Given the description of an element on the screen output the (x, y) to click on. 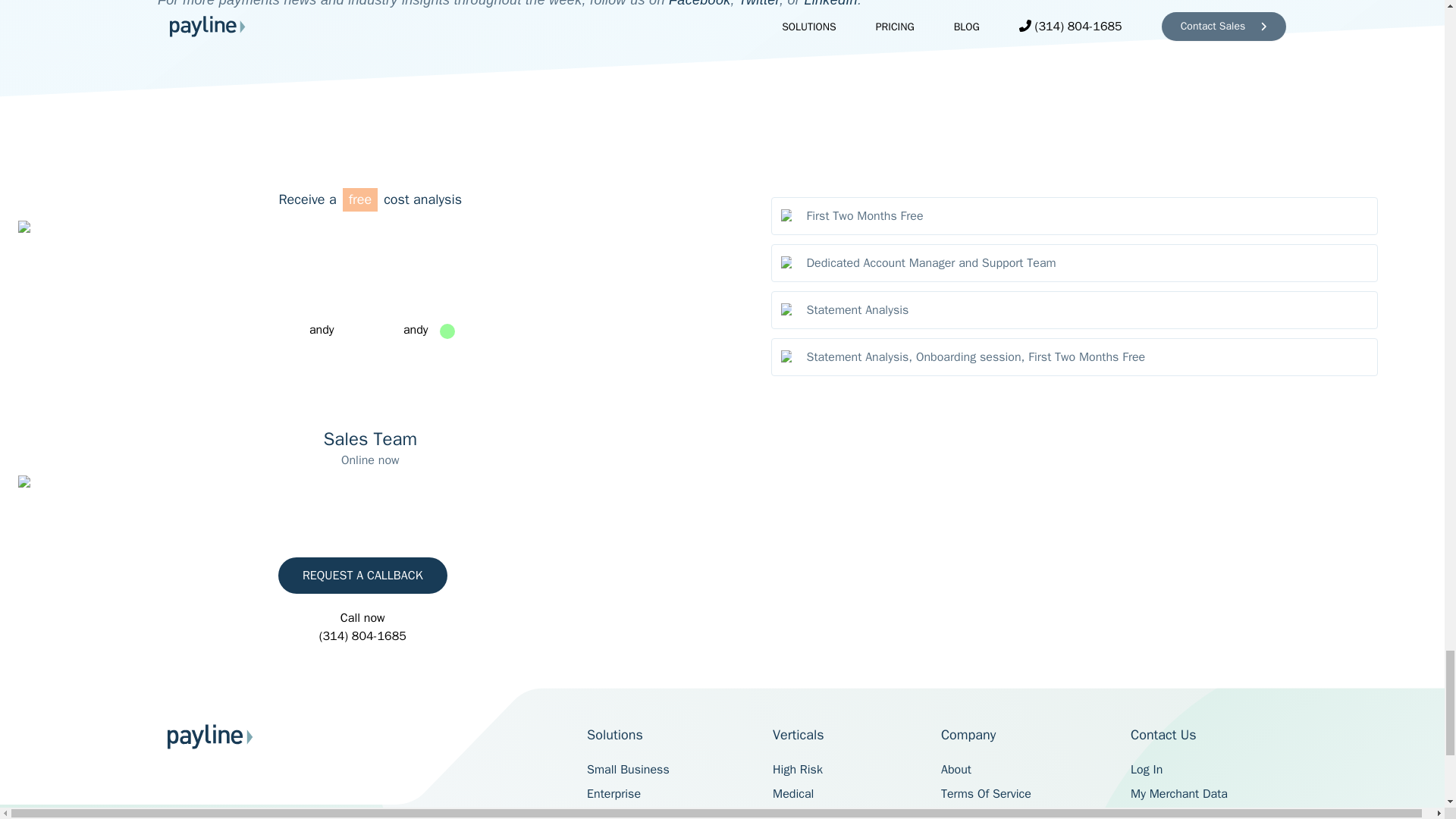
Twitter (758, 3)
LinkedIn (830, 3)
REQUEST A CALLBACK (362, 575)
Small Business (627, 769)
Enterprise (613, 793)
Facebook (699, 3)
REQUEST A CALLBACK (362, 575)
ACH Payments (624, 814)
